Given the description of an element on the screen output the (x, y) to click on. 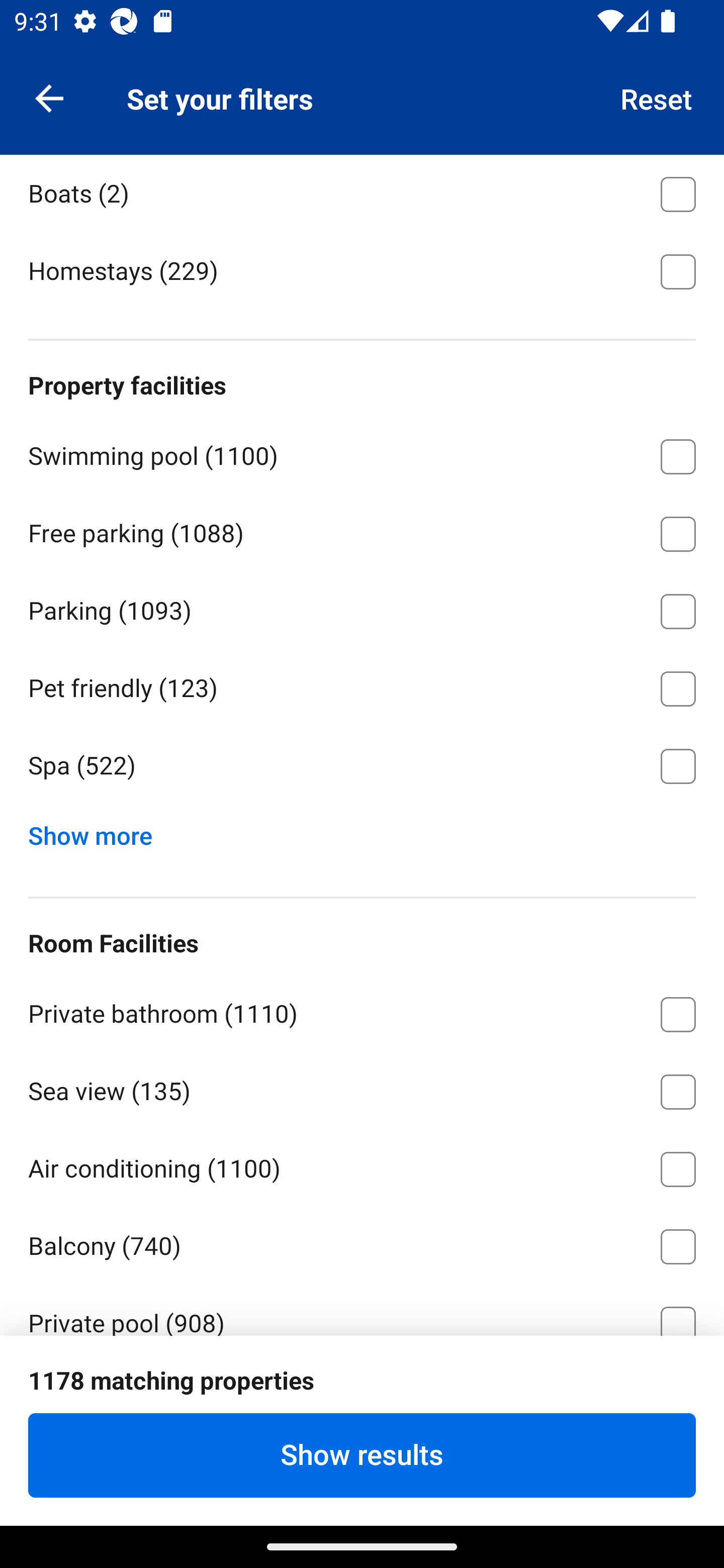
Navigate up (49, 97)
Reset (656, 97)
Luxury tents ⁦(31) (361, 113)
Boats ⁦(2) (361, 191)
Homestays ⁦(229) (361, 269)
Swimming pool ⁦(1100) (361, 452)
Free parking ⁦(1088) (361, 530)
Parking ⁦(1093) (361, 607)
Pet friendly ⁦(123) (361, 685)
Spa ⁦(522) (361, 766)
Show more (97, 831)
Private bathroom ⁦(1110) (361, 1011)
Sea view ⁦(135) (361, 1088)
Air conditioning ⁦(1100) (361, 1165)
Balcony ⁦(740) (361, 1243)
Private pool ⁦(908) (361, 1308)
Show results (361, 1454)
